Given the description of an element on the screen output the (x, y) to click on. 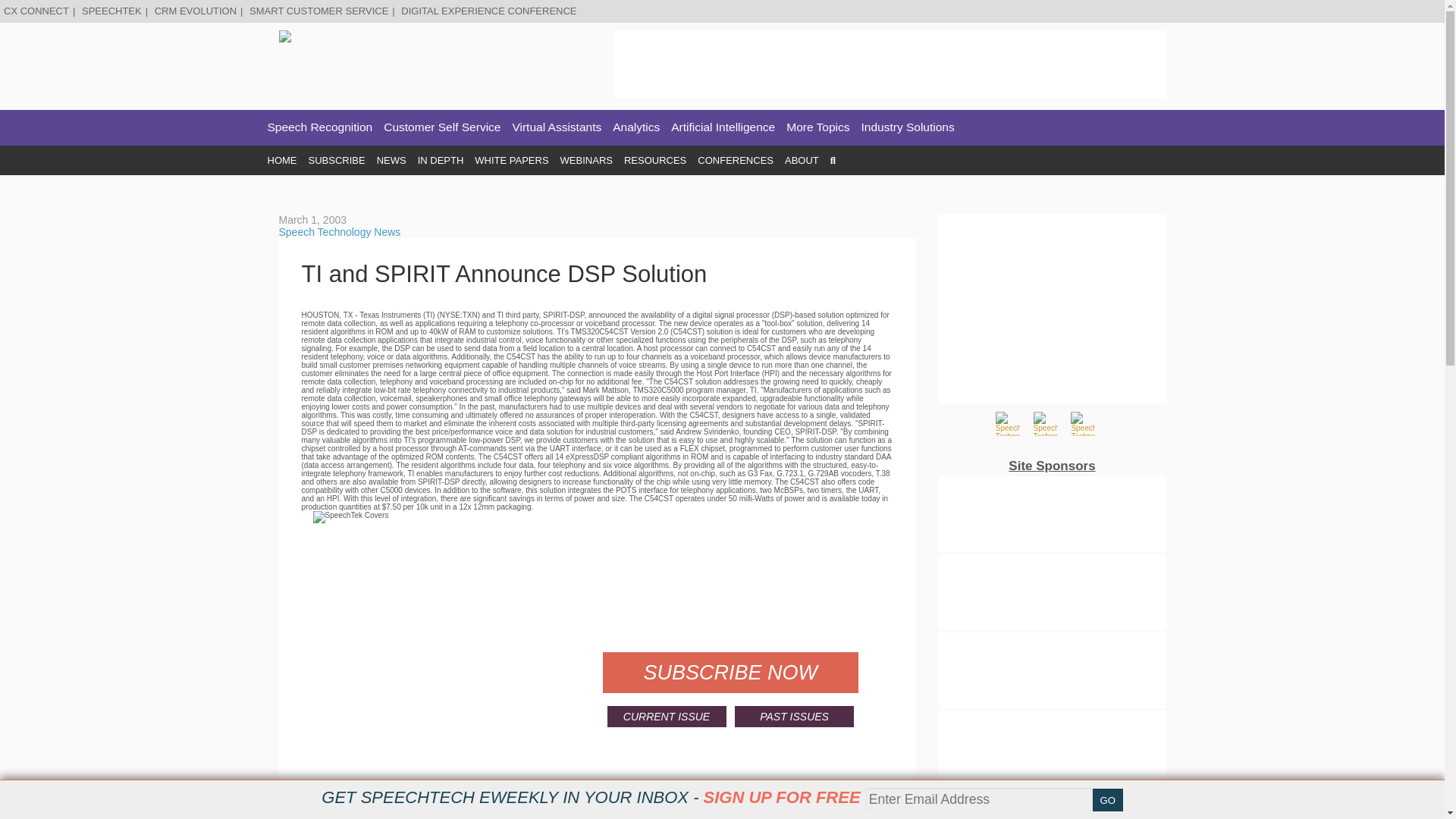
Analytics (635, 127)
DIGITAL EXPERIENCE CONFERENCE (488, 10)
Virtual Assistants (556, 127)
Customer Self Service (442, 127)
Virtual Assistants (556, 127)
More Topics (817, 127)
CRM EVOLUTION (194, 10)
SPEECHTEK (111, 10)
SMART CUSTOMER SERVICE (318, 10)
Speech Recognition (319, 127)
CX CONNECT (36, 10)
Artificial Intelligence (722, 127)
Speech Recognition (319, 127)
GET SPEECHTECH EWEEKLY IN YOUR INBOX - SIGN UP FOR FREE (590, 797)
Customer Self Service (442, 127)
